Given the description of an element on the screen output the (x, y) to click on. 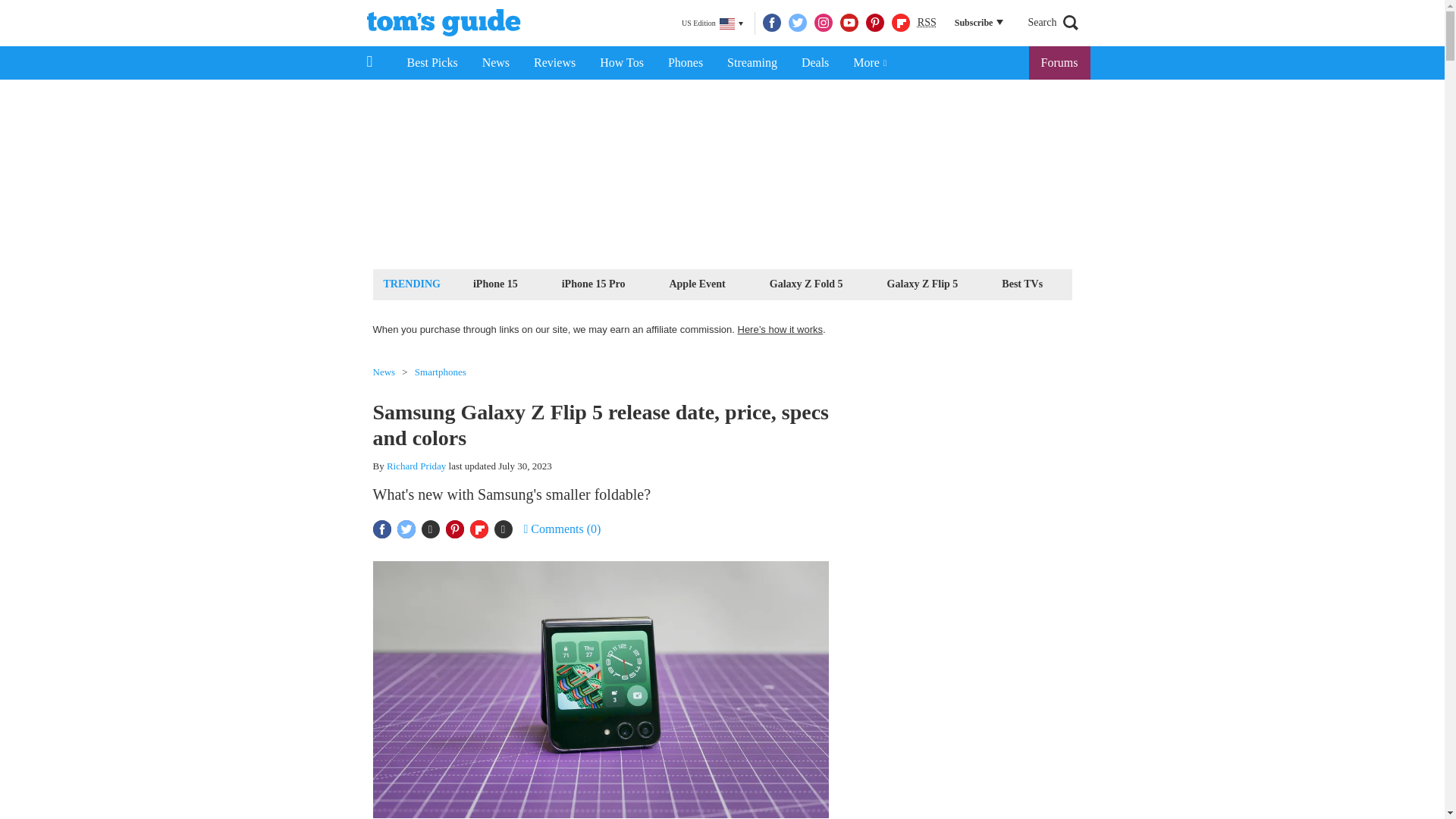
Phones (685, 62)
Best Picks (431, 62)
How Tos (622, 62)
US Edition (712, 23)
Really Simple Syndication (926, 21)
Deals (815, 62)
Streaming (751, 62)
News (495, 62)
RSS (926, 22)
Reviews (554, 62)
